Given the description of an element on the screen output the (x, y) to click on. 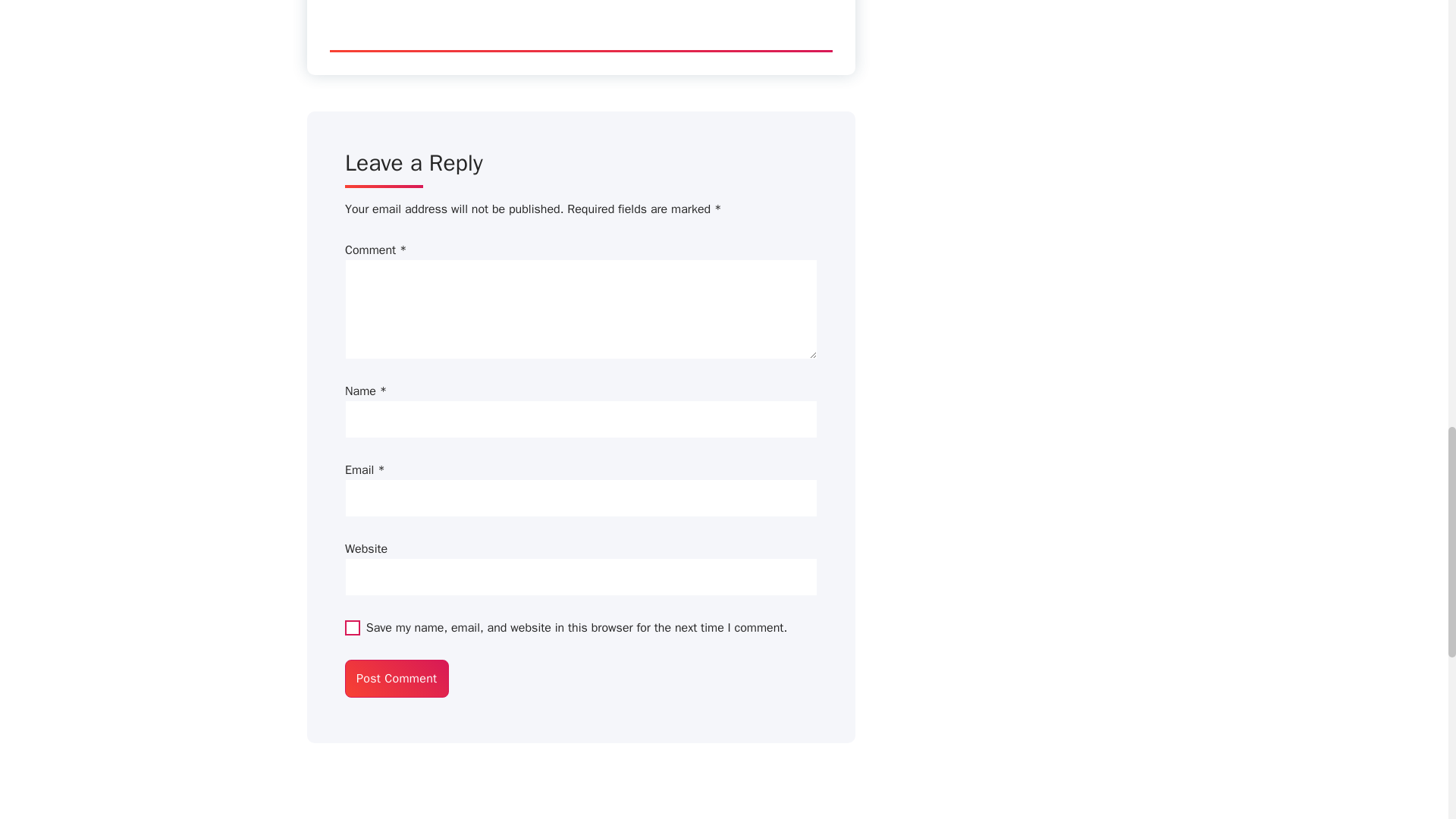
Post Comment (396, 678)
yes (352, 627)
Post Comment (396, 678)
